Given the description of an element on the screen output the (x, y) to click on. 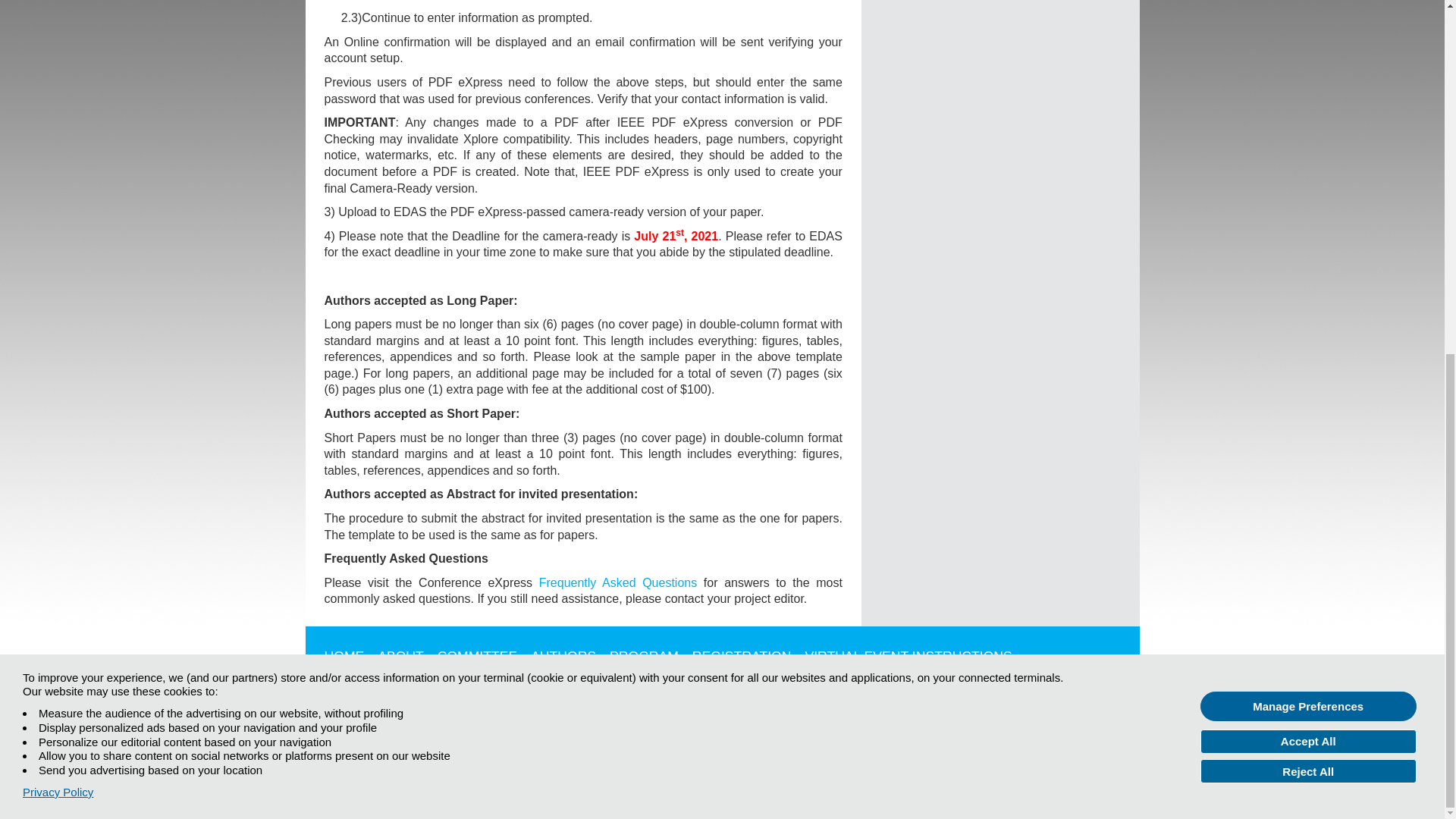
HOME (344, 656)
Privacy Policy (58, 173)
ABOUT (400, 656)
Reject All (1307, 151)
REGISTRATION (742, 656)
COMMITTEE (478, 656)
Accept All (1307, 121)
Frequently Asked Questions (617, 582)
AUTHORS (563, 656)
PROGRAM (644, 656)
Manage Preferences (1307, 86)
